Given the description of an element on the screen output the (x, y) to click on. 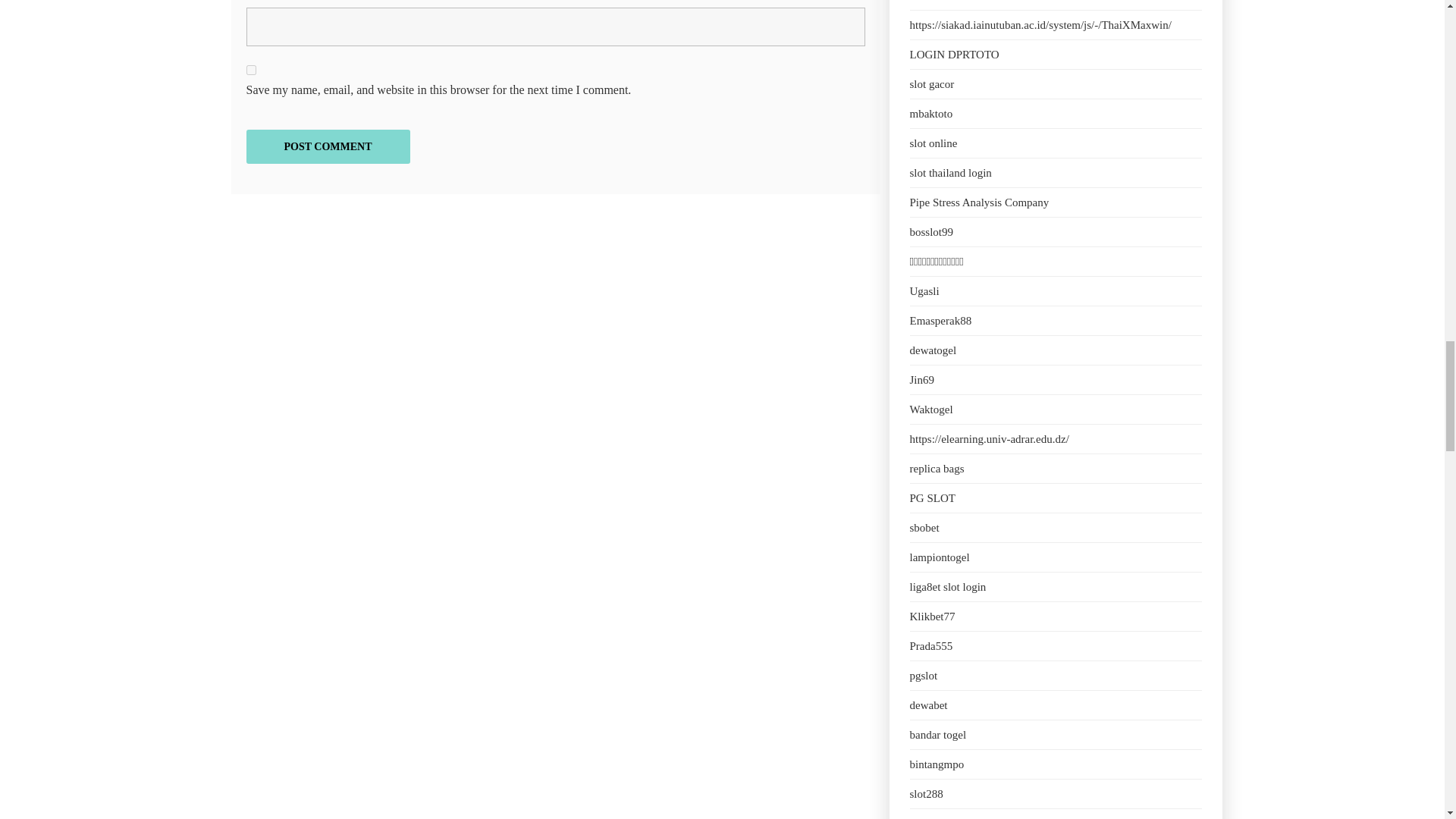
Post Comment (327, 146)
yes (251, 70)
Post Comment (327, 146)
